Given the description of an element on the screen output the (x, y) to click on. 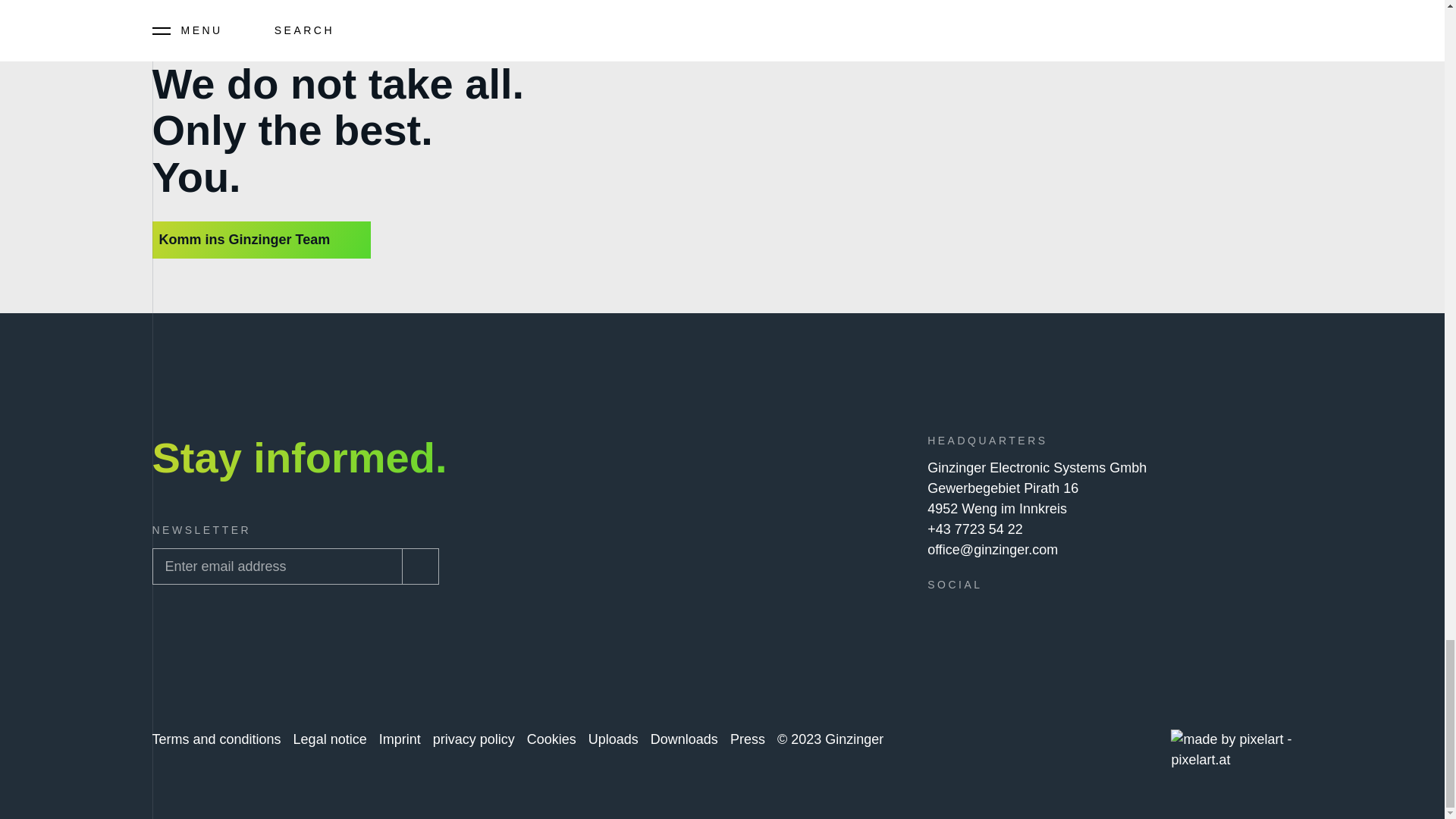
made by pixelart - pixelart.at (1231, 749)
Ginzinger auf YouTube (1035, 617)
Komm ins Ginzinger Team (261, 240)
